Given the description of an element on the screen output the (x, y) to click on. 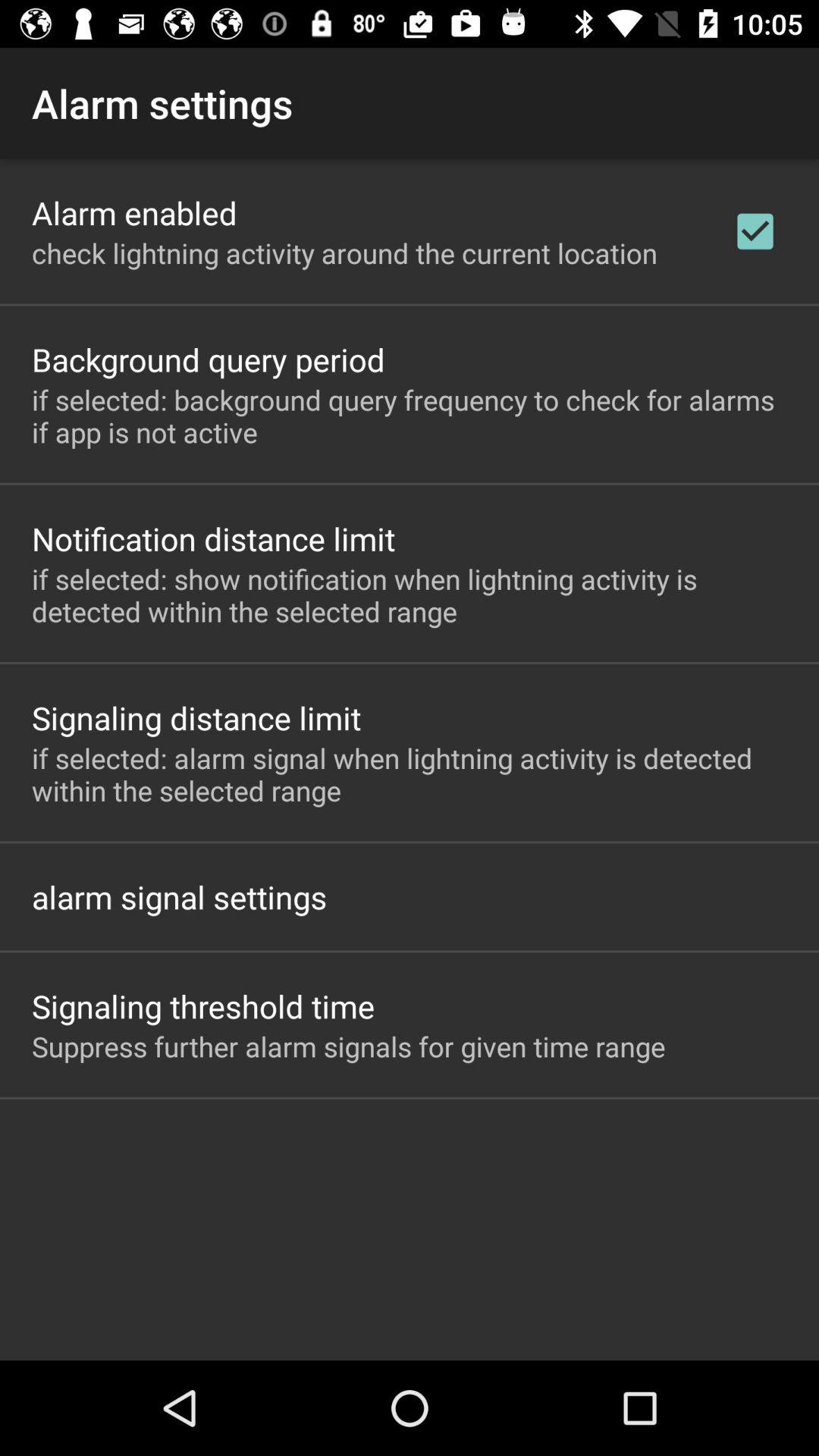
open icon above if selected background (755, 231)
